Given the description of an element on the screen output the (x, y) to click on. 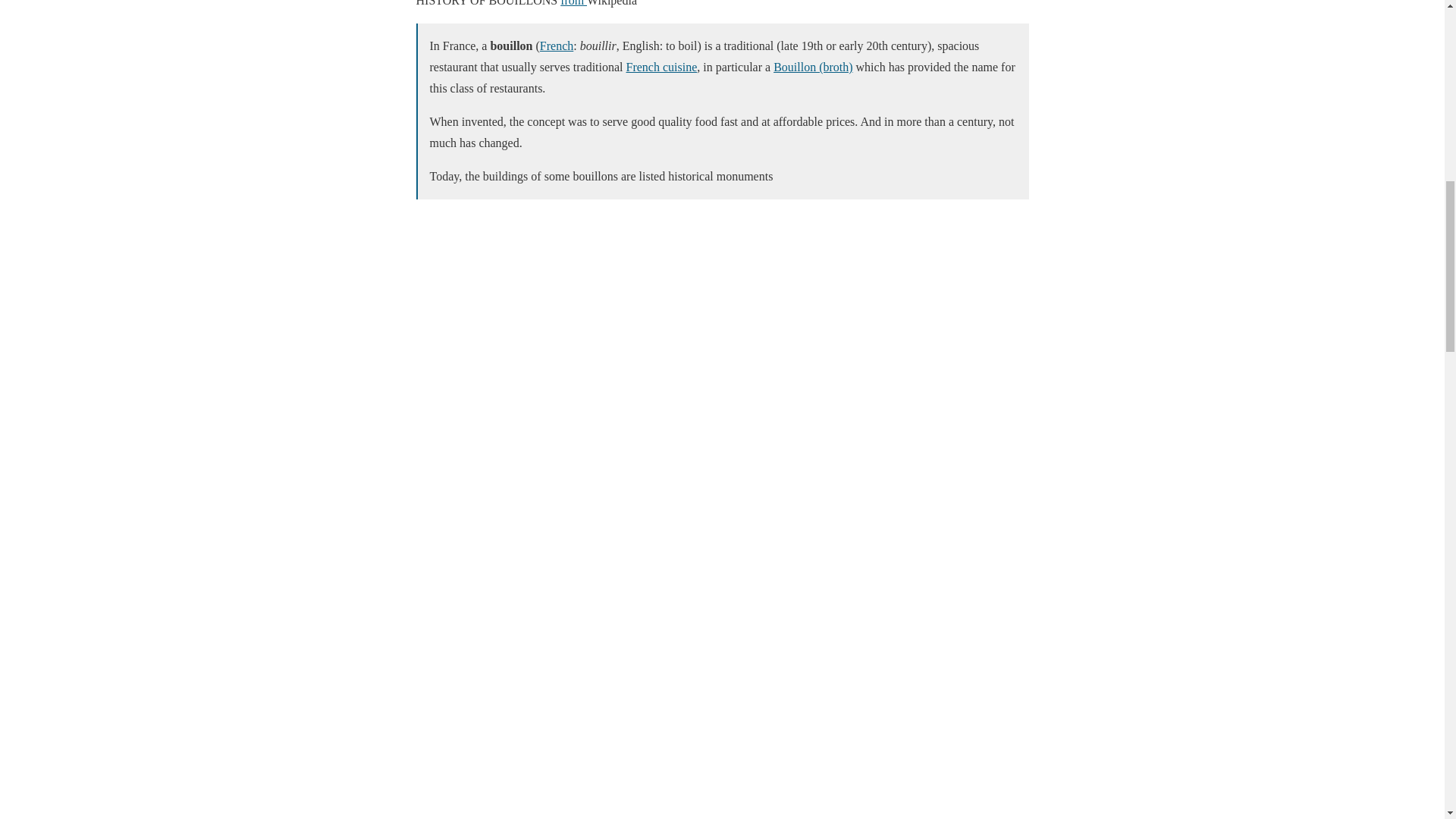
French cuisine (661, 66)
from (573, 3)
French (556, 45)
French cuisine (661, 66)
French language (556, 45)
